Given the description of an element on the screen output the (x, y) to click on. 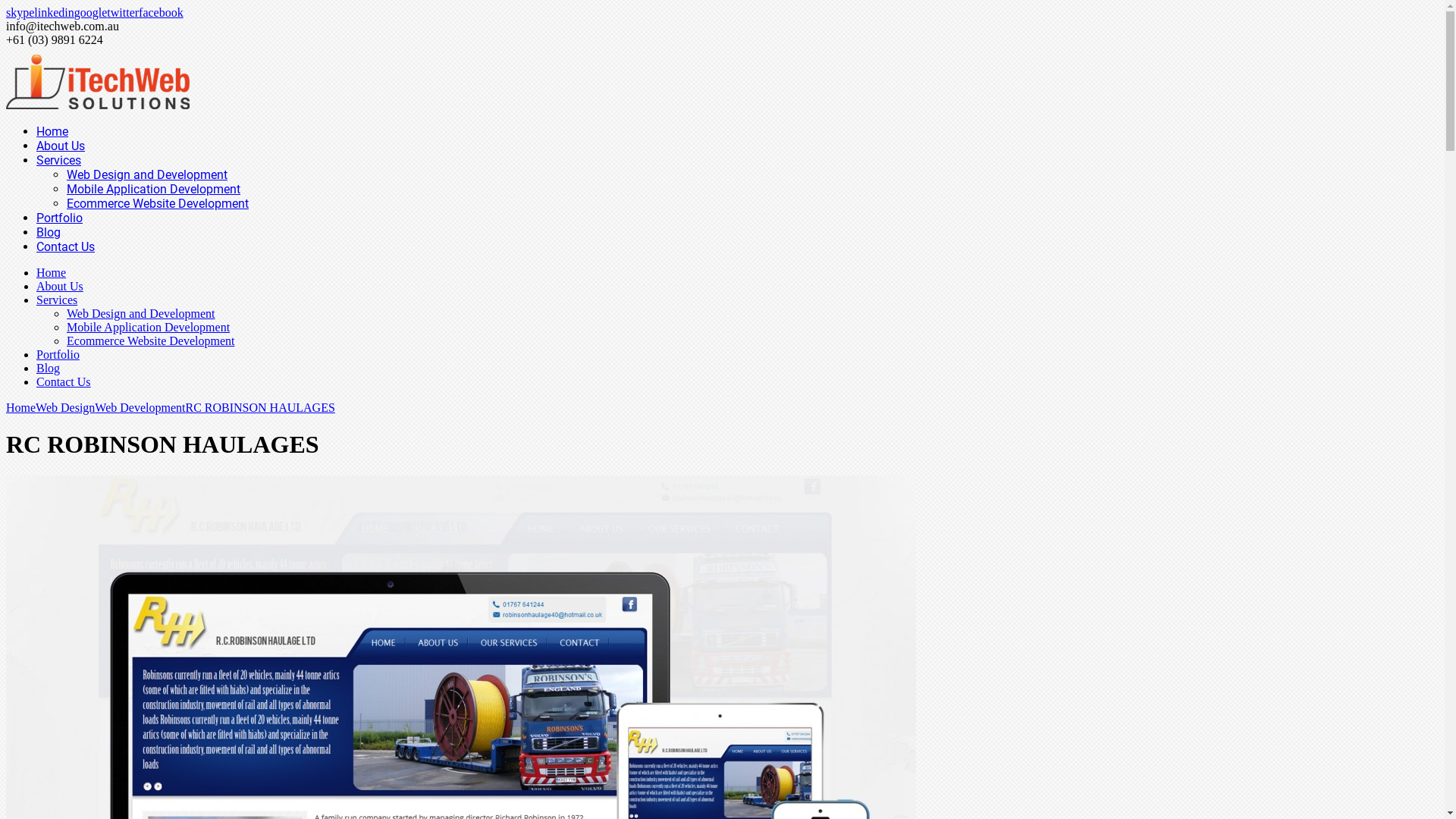
skype Element type: text (20, 12)
About Us Element type: text (60, 145)
About Us Element type: text (59, 285)
Ecommerce Website Development Element type: text (157, 203)
Services Element type: text (56, 299)
Mobile Application Development Element type: text (153, 189)
twitter Element type: text (122, 12)
Blog Element type: text (47, 367)
Contact Us Element type: text (63, 381)
Web Design and Development Element type: text (140, 313)
Contact Us Element type: text (65, 246)
Home Element type: text (52, 131)
Portfolio Element type: text (59, 217)
Ecommerce Website Development Element type: text (150, 340)
Mobile Application Development Element type: text (147, 326)
Home Element type: text (20, 407)
RC ROBINSON HAULAGES Element type: text (259, 407)
Blog Element type: text (48, 232)
Home Element type: text (50, 272)
Web Development Element type: text (139, 407)
google Element type: text (90, 12)
Portfolio Element type: text (57, 354)
facebook Element type: text (160, 12)
Web Design and Development Element type: text (146, 174)
linkedin Element type: text (53, 12)
Web Design Element type: text (64, 407)
Services Element type: text (58, 160)
